Given the description of an element on the screen output the (x, y) to click on. 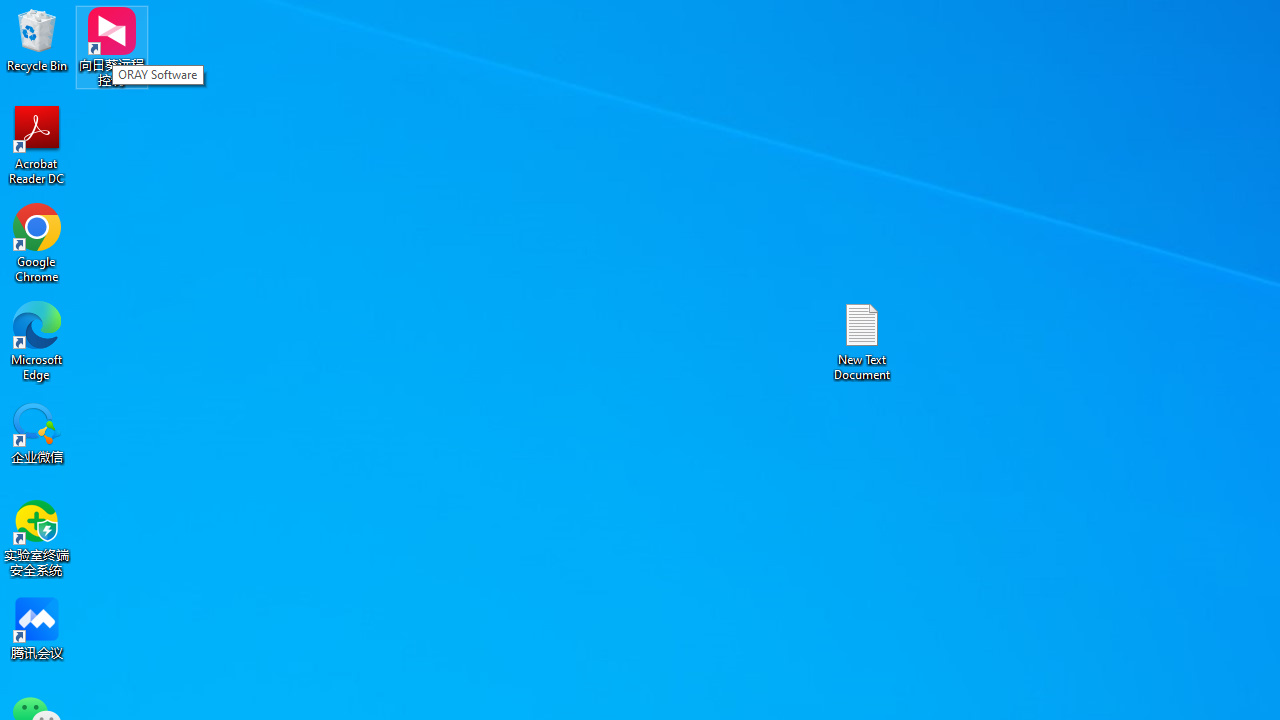
Google Chrome (37, 242)
New Text Document (861, 340)
Acrobat Reader DC (37, 144)
Recycle Bin (37, 39)
Microsoft Edge (37, 340)
